Given the description of an element on the screen output the (x, y) to click on. 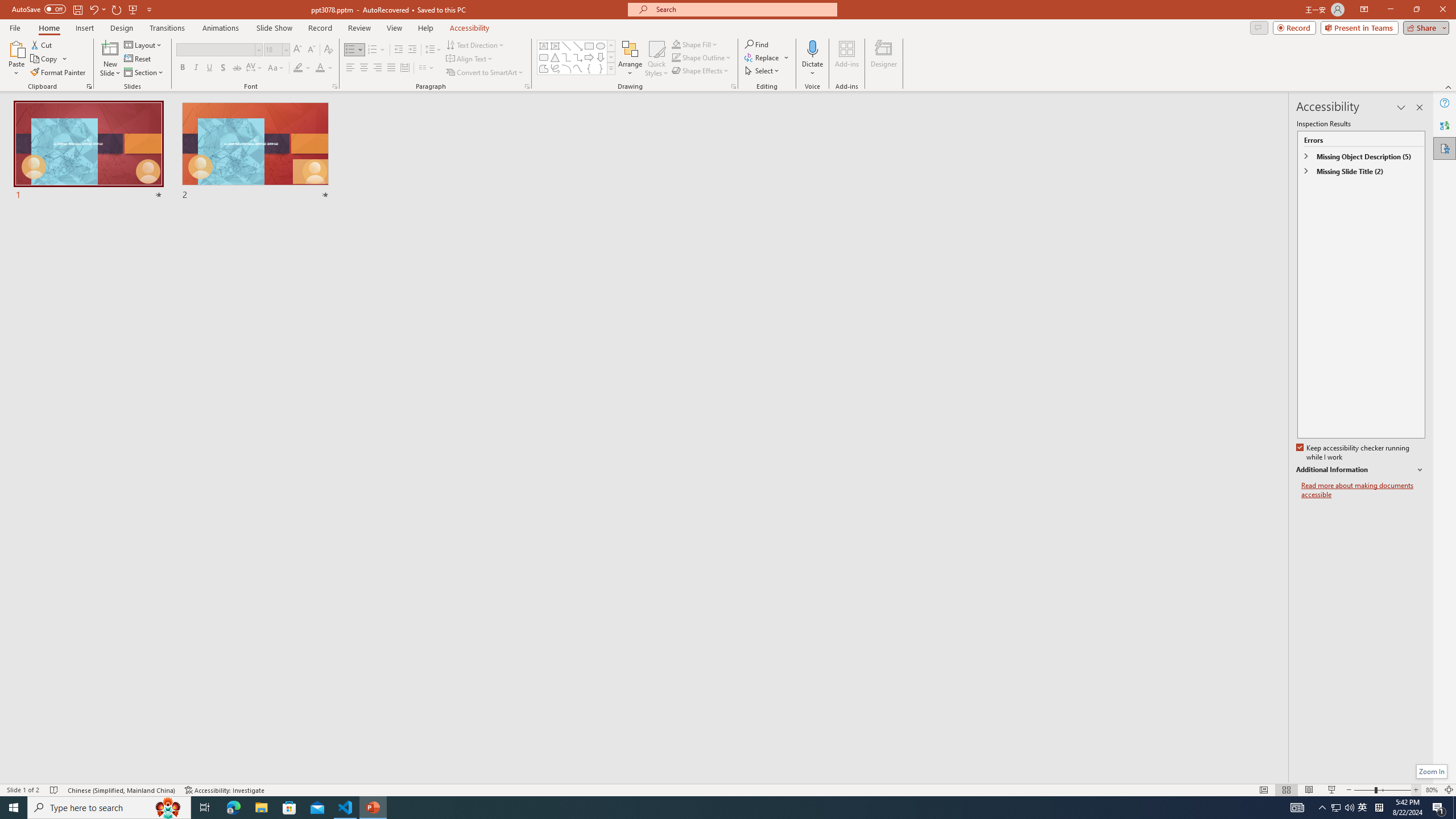
Additional Information (1360, 469)
